Given the description of an element on the screen output the (x, y) to click on. 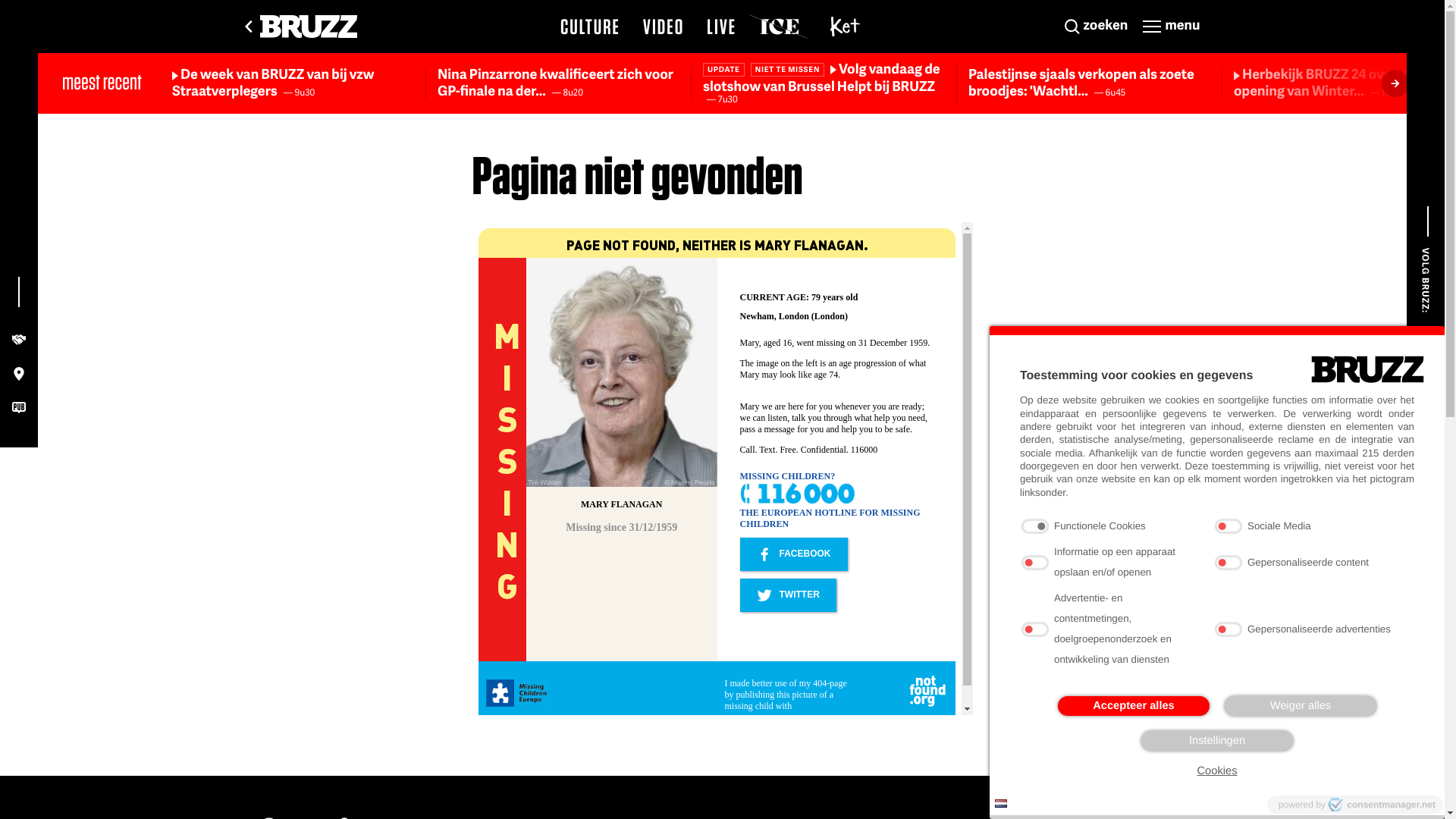
CULTURE Element type: text (590, 26)
BRUZZ ICE Element type: hover (778, 26)
Palestijnse sjaals verkopen als zoete broodjes: 'Wachtl... Element type: text (1081, 82)
Ket Element type: hover (845, 26)
Nina Pinzarrone kwalificeert zich voor GP-finale na der... Element type: text (555, 82)
Language: nl Element type: hover (1000, 803)
De week van BRUZZ van bij vzw Straatverplegers Element type: text (272, 82)
Weiger alles Element type: text (1300, 705)
consentmanager.net Element type: text (1381, 804)
luister en kijk live Element type: text (1368, 793)
Find BRUZZ on facebook Element type: text (1425, 334)
Find BRUZZ on twitter Element type: text (1425, 391)
Find BRUZZ on youtube Element type: text (1425, 419)
Instellingen Element type: text (1216, 740)
Accepteer alles Element type: text (1133, 705)
Find BRUZZ on instagram Element type: text (1425, 363)
Volg vandaag de slotshow van Brussel Helpt bij BRUZZ Element type: text (821, 77)
VIDEO Element type: text (663, 26)
meest recent Element type: text (101, 82)
Cookies Element type: text (1217, 771)
LIVE Element type: text (721, 26)
Language: nl Element type: hover (1000, 802)
zoeken Element type: text (1096, 26)
